Given the description of an element on the screen output the (x, y) to click on. 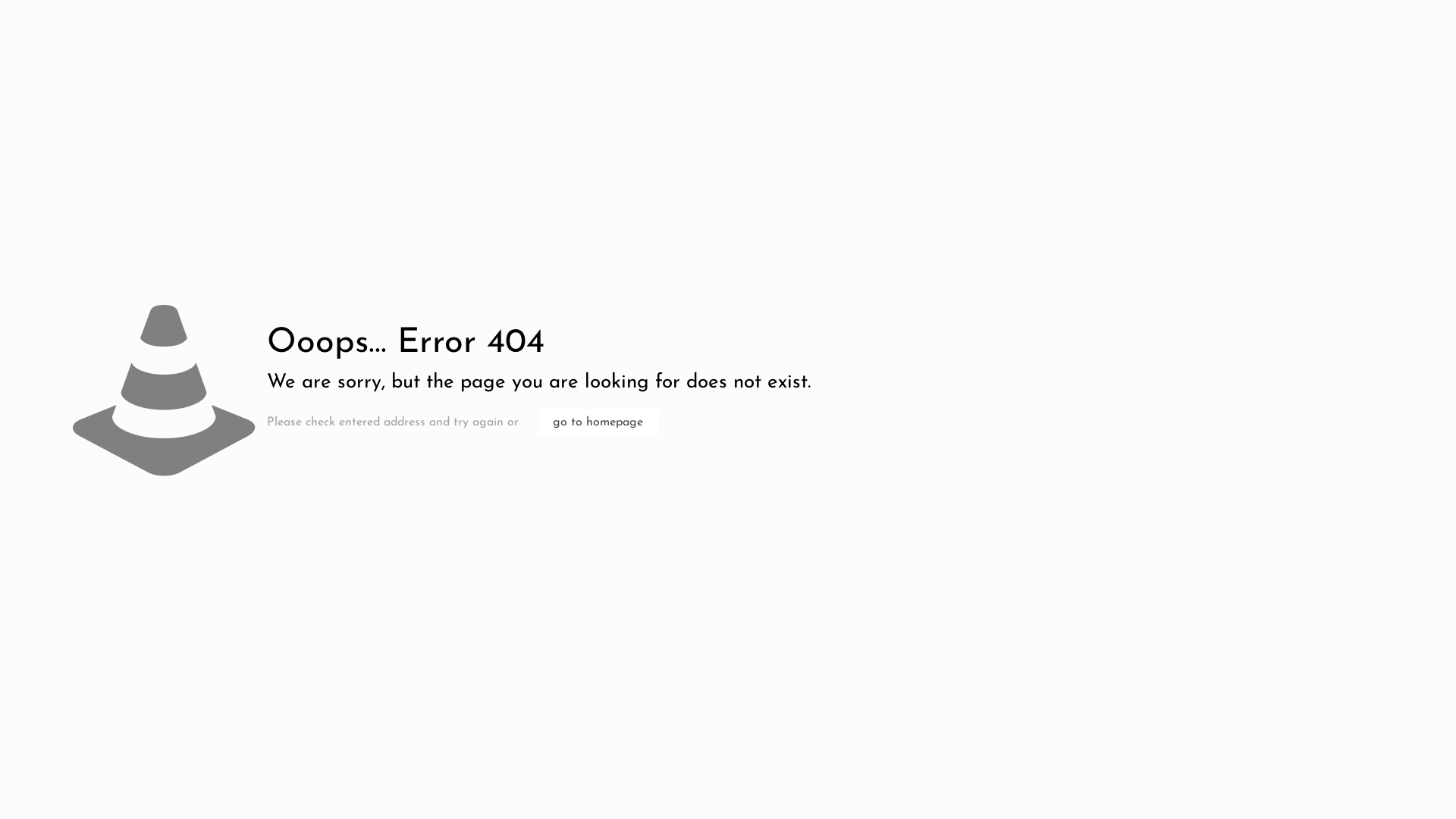
go to homepage Element type: text (597, 422)
